Given the description of an element on the screen output the (x, y) to click on. 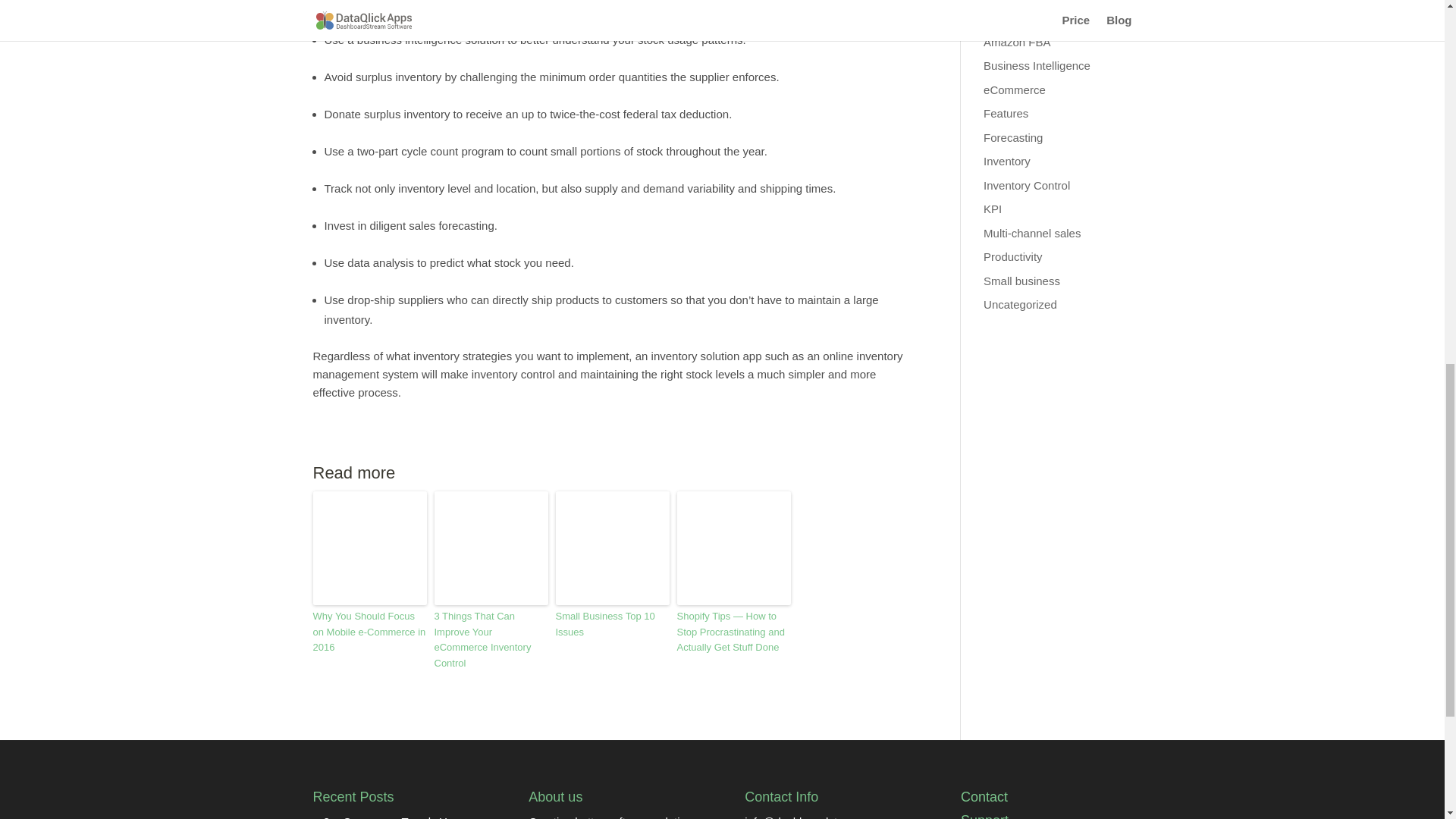
Multi-channel sales (1032, 232)
Inventory (1007, 160)
Why You Should Focus on Mobile e-Commerce in 2016 (369, 632)
Uncategorized (1020, 304)
Inventory Control (1027, 185)
Small Business Top 10 Issues (611, 624)
Small business (1021, 280)
Productivity (1013, 256)
Business Intelligence (1037, 65)
eCommerce (1014, 89)
